Given the description of an element on the screen output the (x, y) to click on. 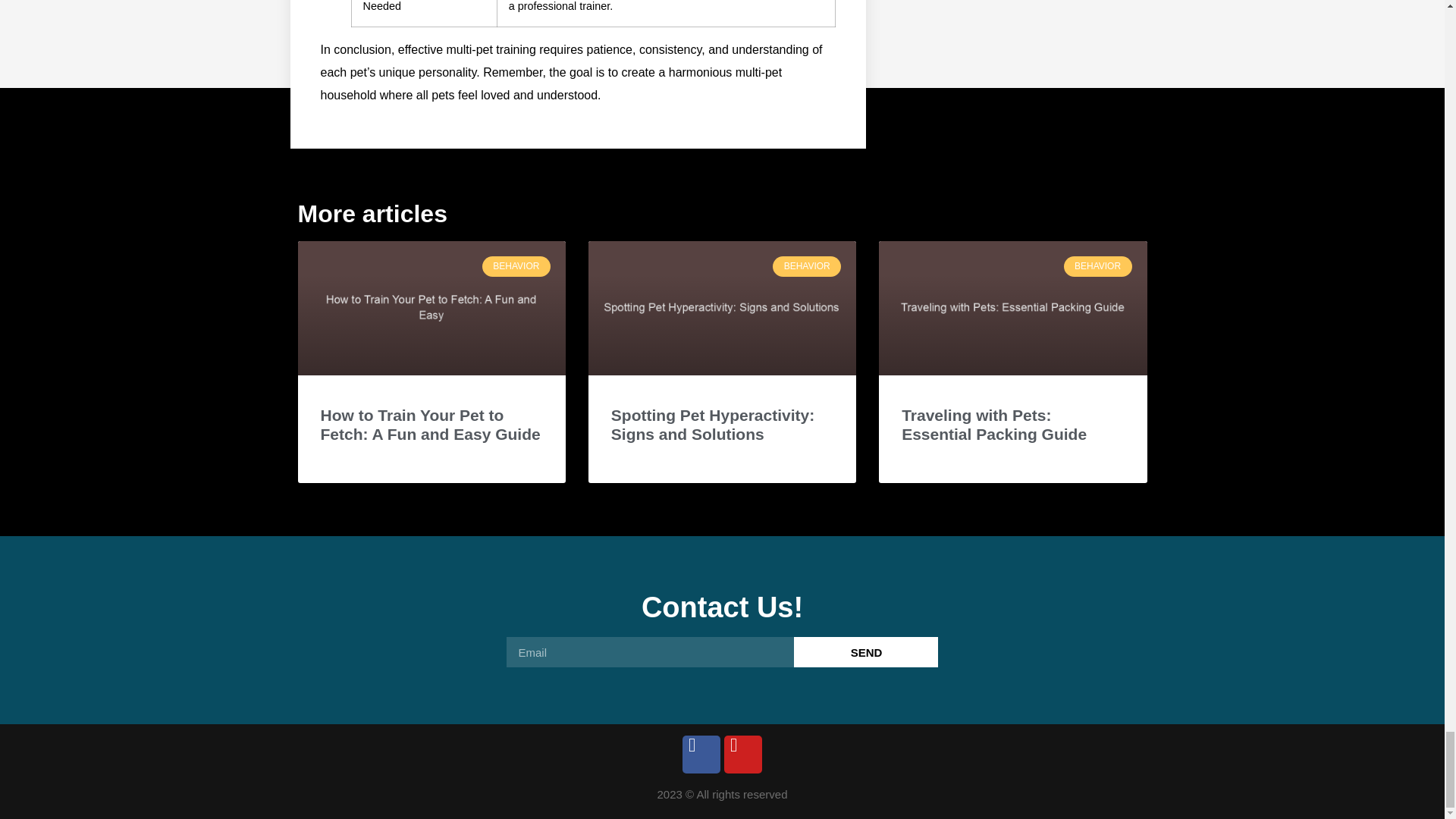
Spotting Pet Hyperactivity: Signs and Solutions (712, 424)
Traveling with Pets: Essential Packing Guide (993, 424)
How to Train Your Pet to Fetch: A Fun and Easy Guide (430, 424)
